Given the description of an element on the screen output the (x, y) to click on. 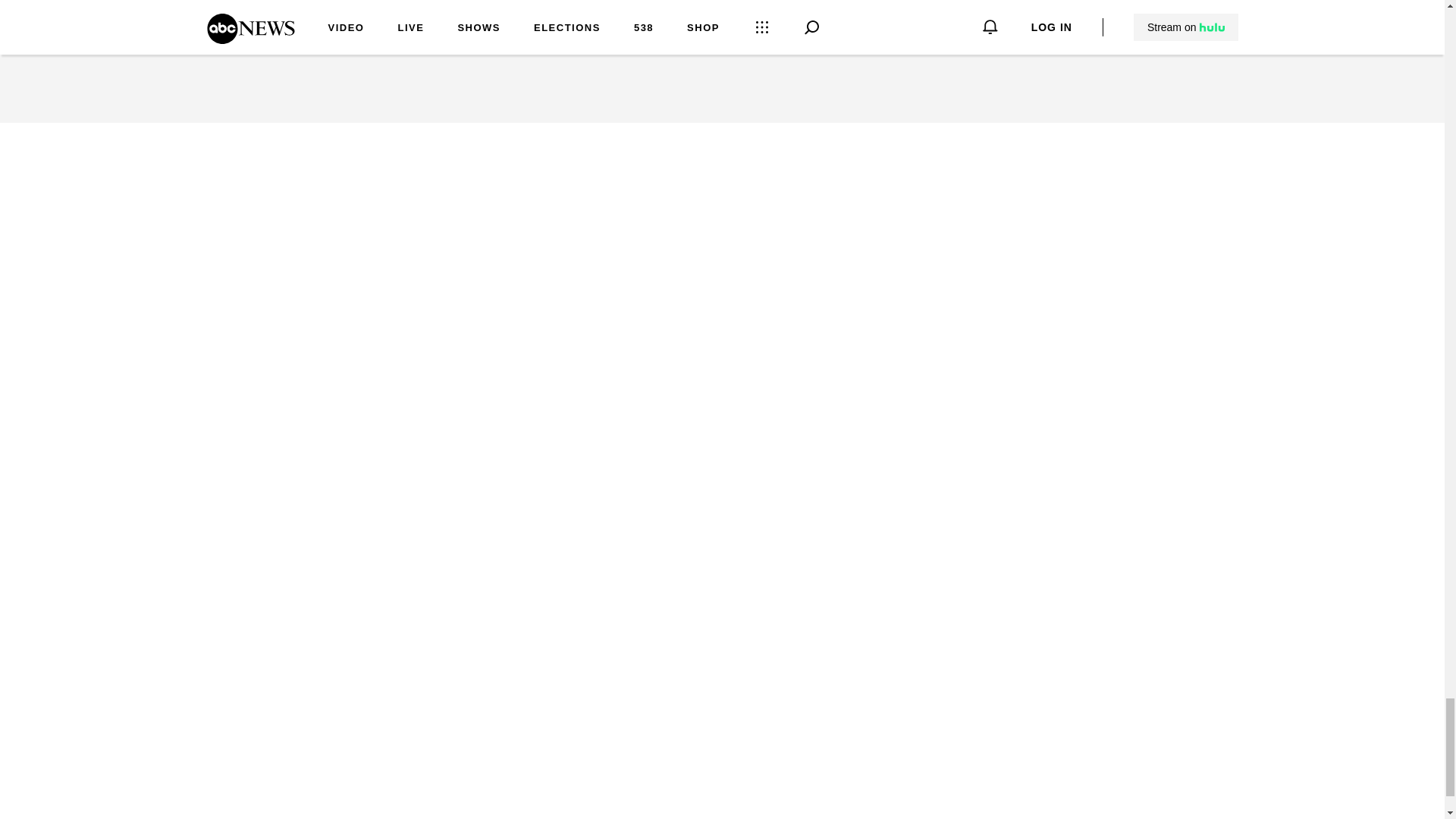
Taiwan (315, 9)
China (371, 9)
